Given the description of an element on the screen output the (x, y) to click on. 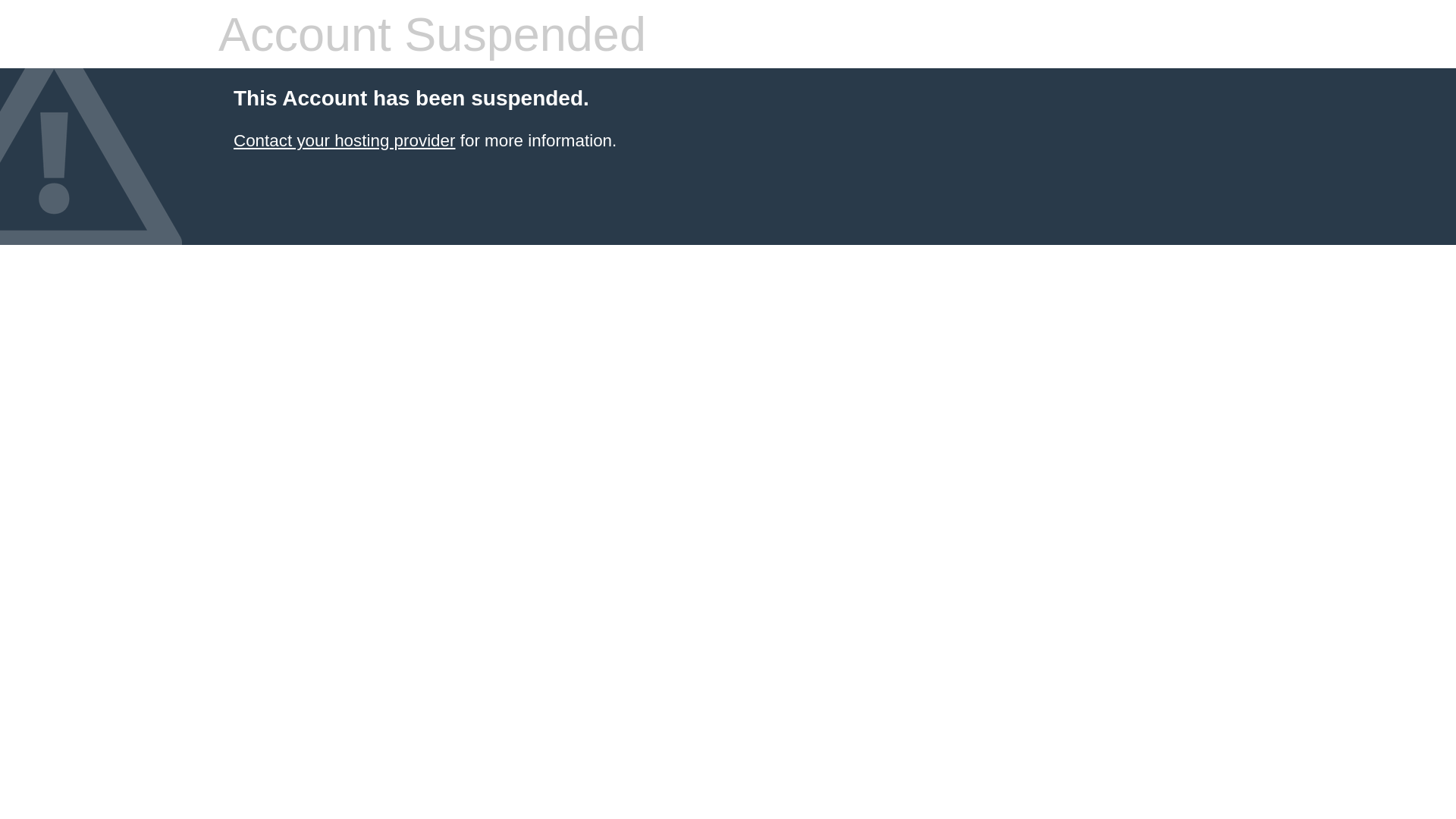
Contact your hosting provider Element type: text (344, 140)
